Given the description of an element on the screen output the (x, y) to click on. 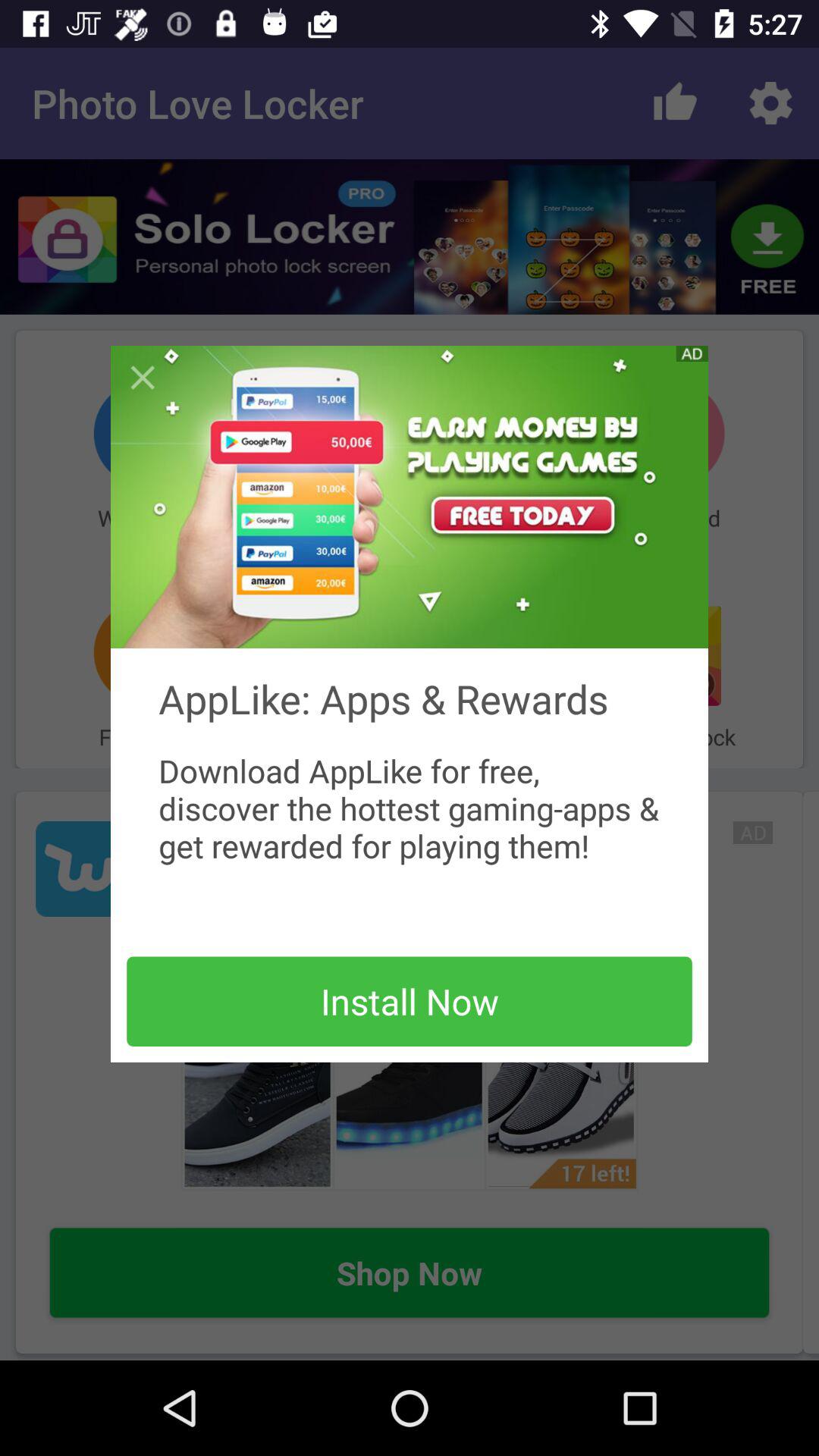
see advertisement options (692, 353)
